Given the description of an element on the screen output the (x, y) to click on. 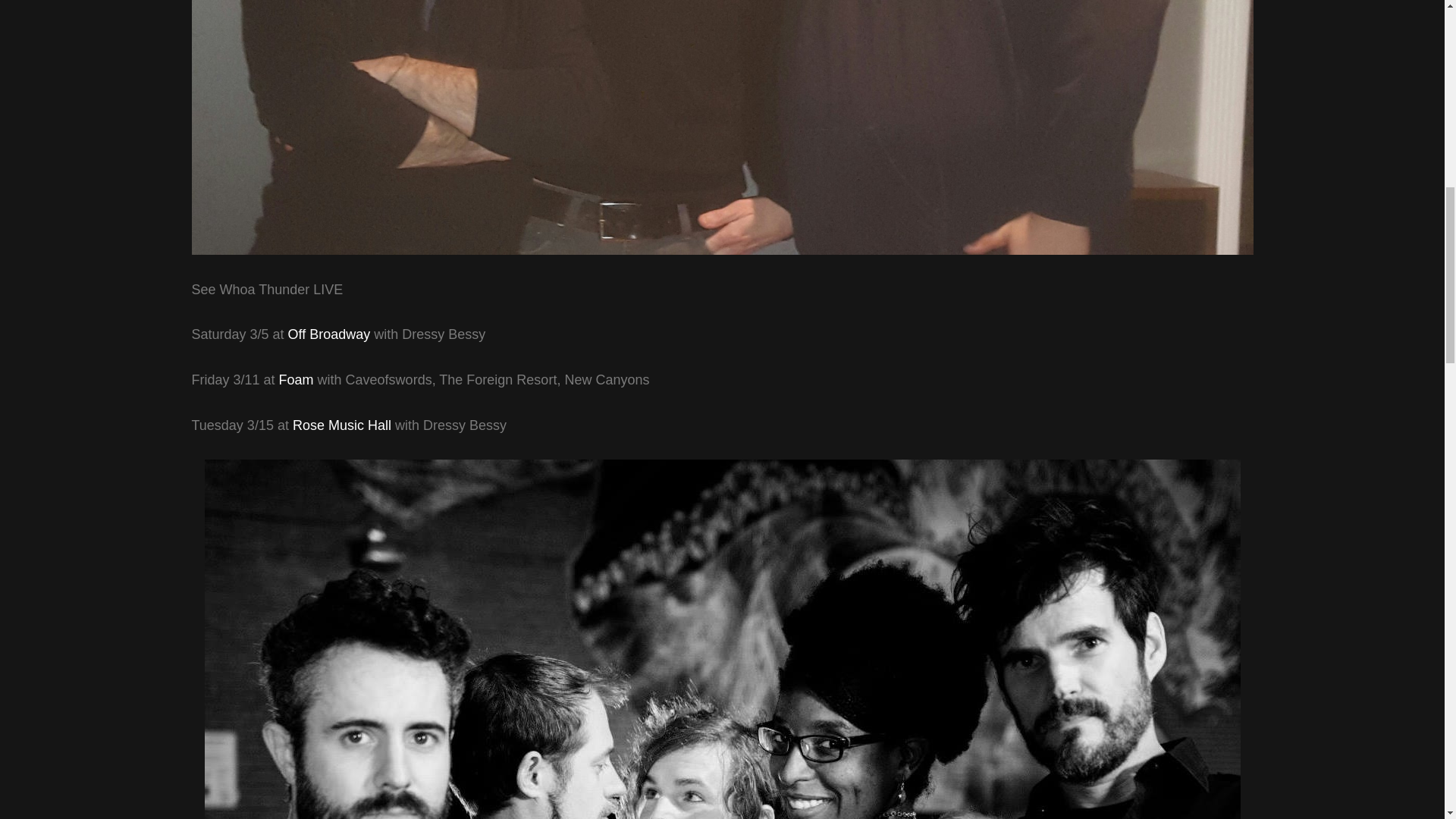
Foam (296, 379)
Off Broadway (329, 334)
Rose Music Hall (341, 425)
